Given the description of an element on the screen output the (x, y) to click on. 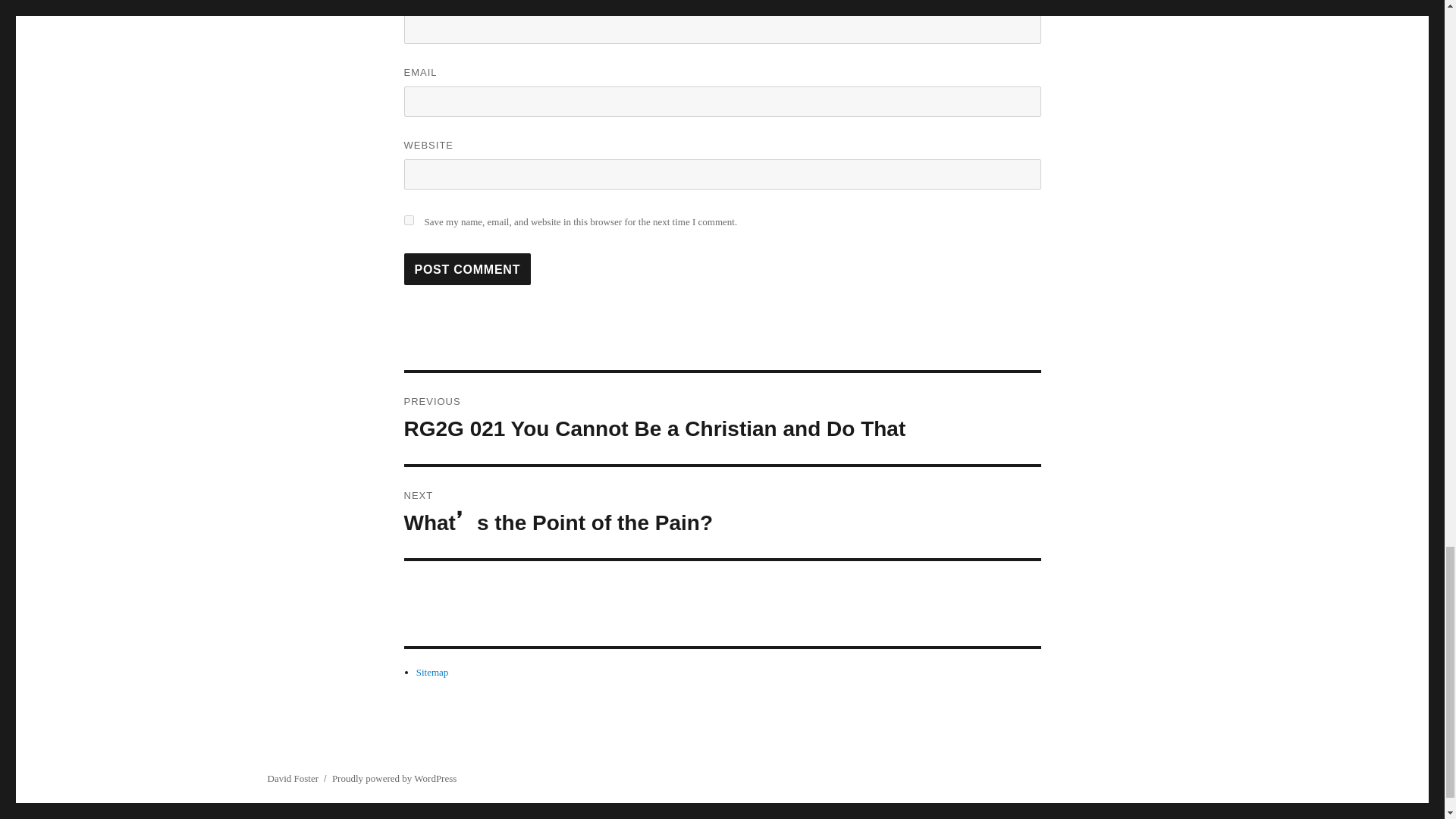
yes (408, 220)
Sitemap (432, 672)
Proudly powered by WordPress (394, 778)
Post Comment (467, 269)
Post Comment (467, 269)
Sitemap (432, 672)
David Foster (292, 778)
